Given the description of an element on the screen output the (x, y) to click on. 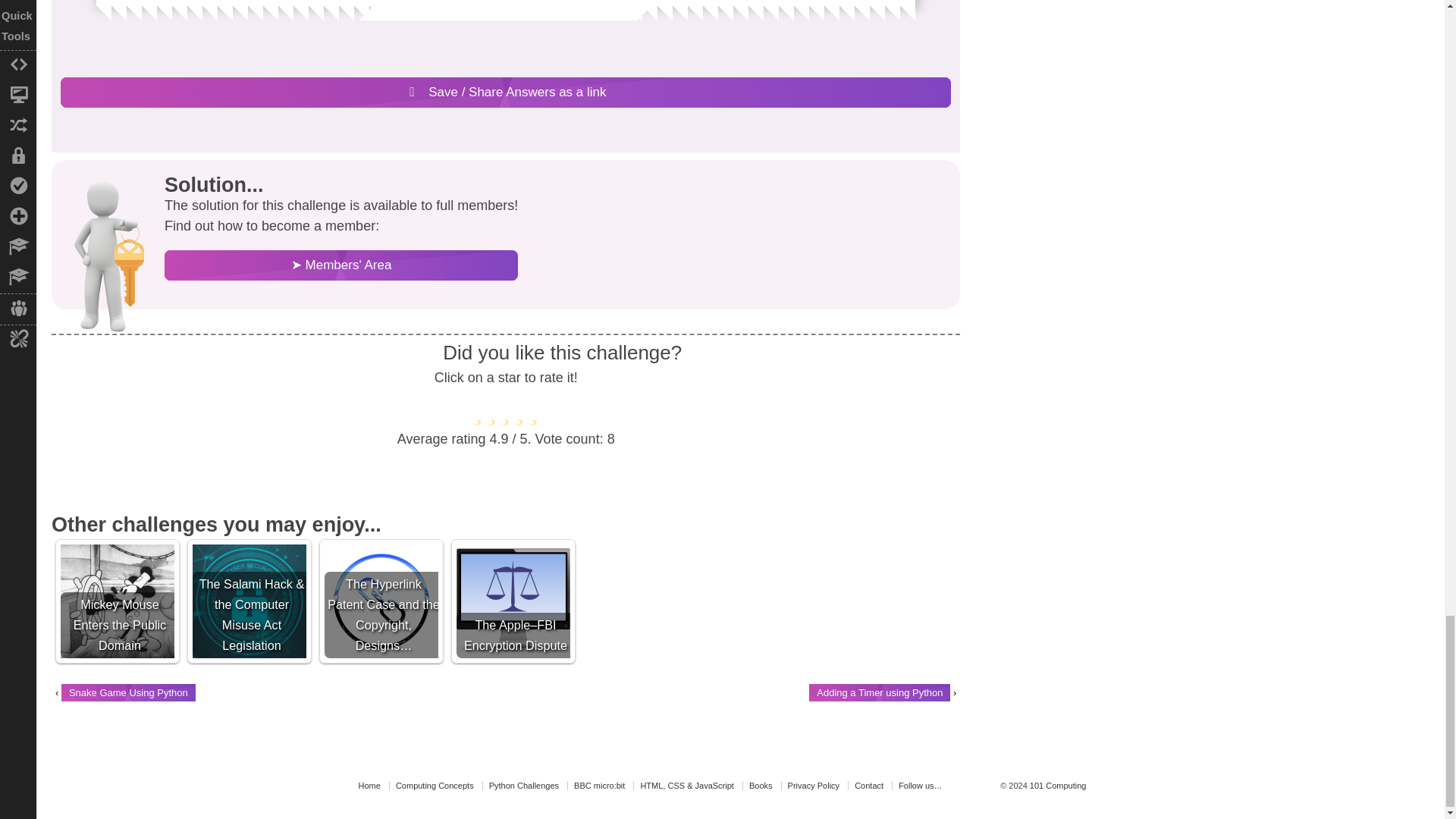
101 Computing (1056, 785)
Mickey Mouse Enters the Public Domain (117, 601)
